Given the description of an element on the screen output the (x, y) to click on. 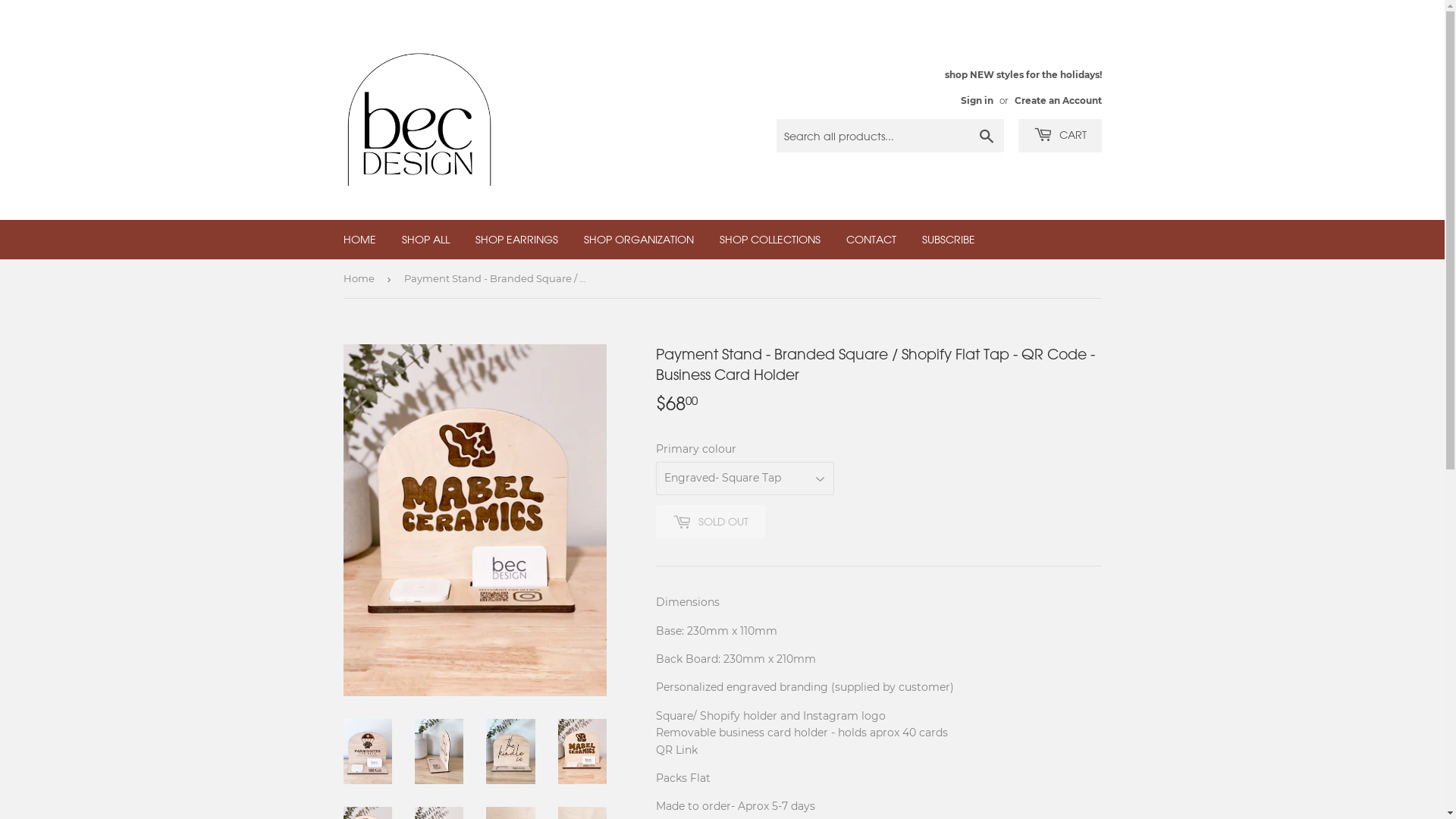
shop NEW styles for the holidays! Element type: text (1022, 86)
SUBSCRIBE Element type: text (947, 239)
HOME Element type: text (359, 239)
CART Element type: text (1059, 135)
SHOP COLLECTIONS Element type: text (769, 239)
SHOP EARRINGS Element type: text (516, 239)
CONTACT Element type: text (870, 239)
Create an Account Element type: text (1057, 100)
Home Element type: text (360, 278)
SHOP ORGANIZATION Element type: text (637, 239)
Search Element type: text (986, 136)
SOLD OUT Element type: text (709, 521)
SHOP ALL Element type: text (424, 239)
Sign in Element type: text (976, 100)
